Given the description of an element on the screen output the (x, y) to click on. 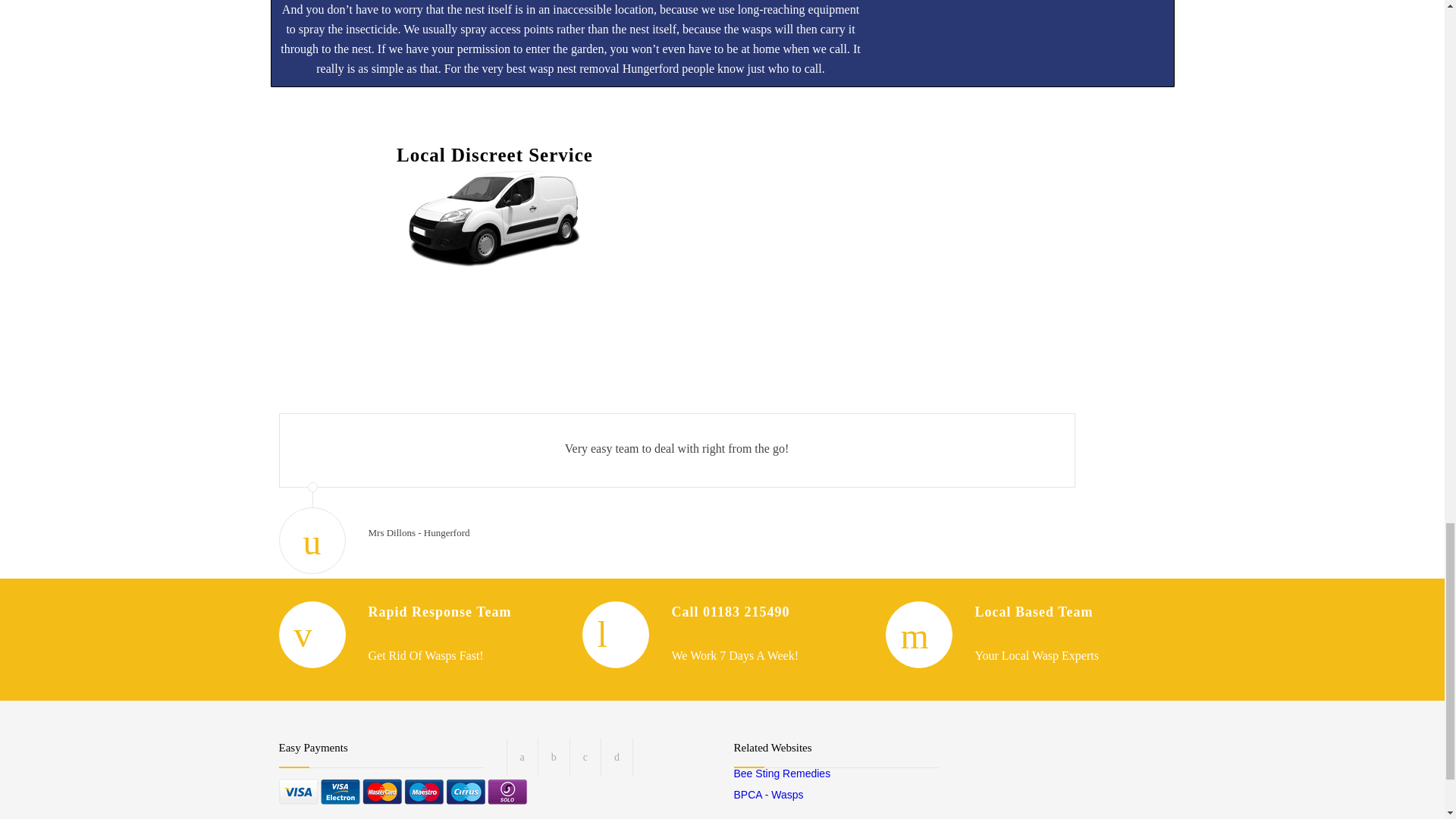
BPCA - Wasps (768, 794)
Bee Sting Remedies (782, 773)
